Given the description of an element on the screen output the (x, y) to click on. 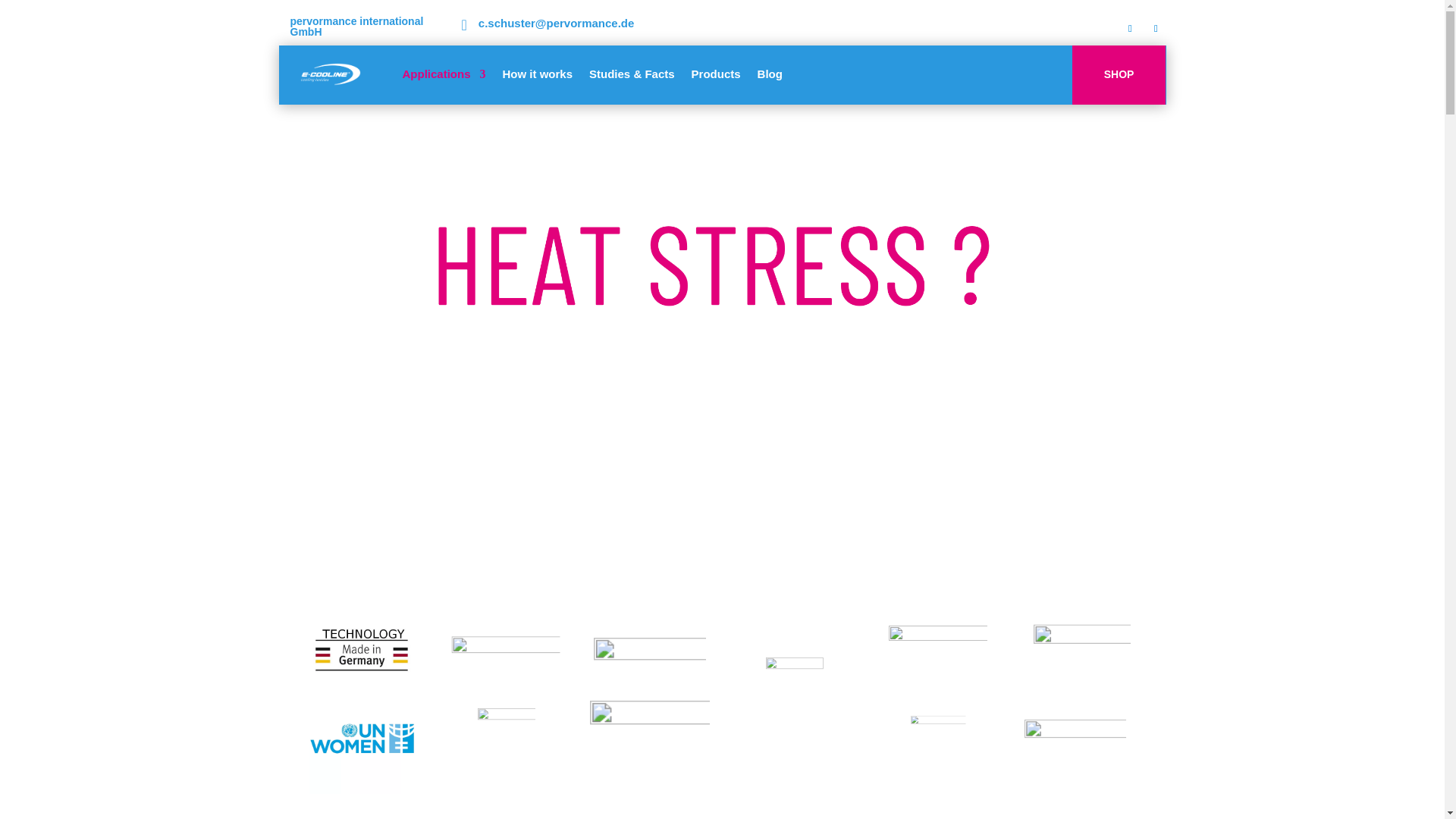
SHOP (1118, 74)
Applications (442, 74)
Follow on Facebook (1129, 28)
ecooline-cooling-clothing---all-products-are-climate-neutral (631, 647)
Development-and-climate-alliance-logo (937, 651)
How it works (537, 74)
Follow on Instagram (1155, 28)
ecooline supports global compact (627, 726)
un-women-new-logo (346, 725)
weltwaldklima (803, 695)
